Given the description of an element on the screen output the (x, y) to click on. 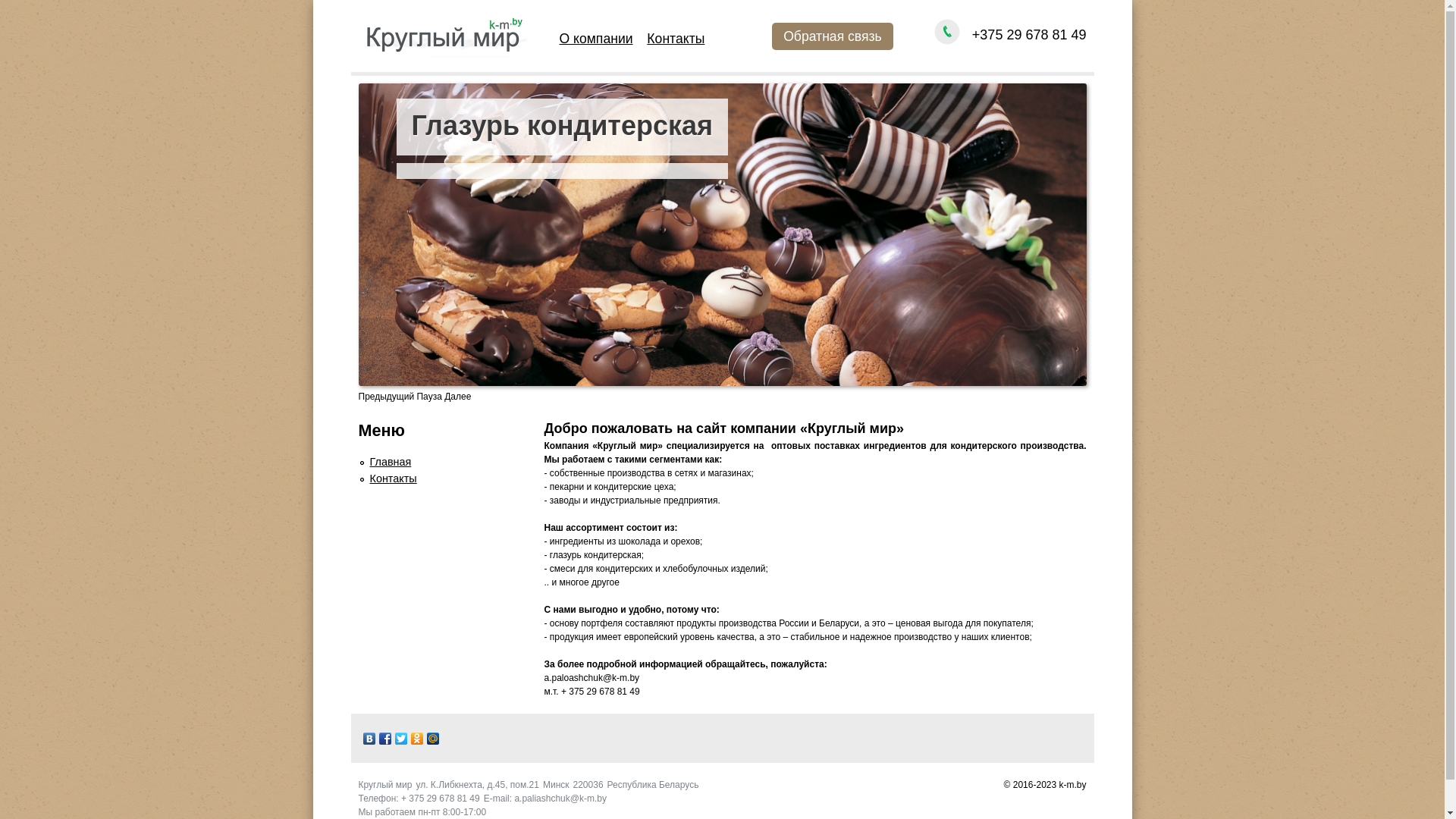
a.paloashchuk@k-m.by Element type: text (592, 677)
Facebook Element type: hover (385, 738)
Twitter Element type: hover (400, 738)
